Given the description of an element on the screen output the (x, y) to click on. 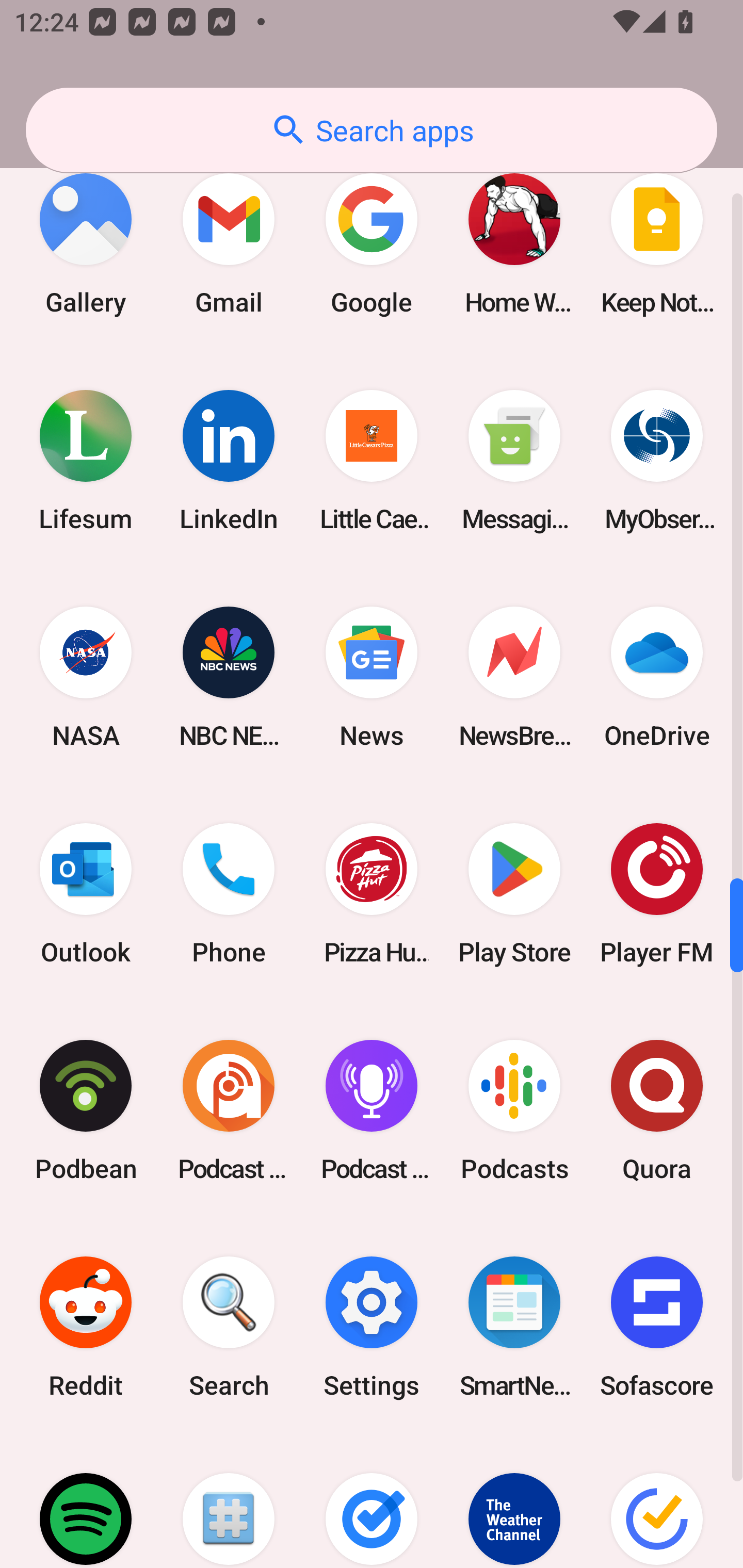
  Search apps (371, 130)
Gallery (85, 244)
Gmail (228, 244)
Google (371, 244)
Home Workout (514, 244)
Keep Notes (656, 244)
Lifesum (85, 460)
LinkedIn (228, 460)
Little Caesars Pizza (371, 460)
Messaging (514, 460)
MyObservatory (656, 460)
NASA (85, 677)
NBC NEWS (228, 677)
News (371, 677)
NewsBreak (514, 677)
OneDrive (656, 677)
Outlook (85, 893)
Phone (228, 893)
Pizza Hut HK & Macau (371, 893)
Play Store (514, 893)
Player FM (656, 893)
Podbean (85, 1109)
Podcast Addict (228, 1109)
Podcast Player (371, 1109)
Podcasts (514, 1109)
Quora (656, 1109)
Reddit (85, 1326)
Search (228, 1326)
Settings (371, 1326)
SmartNews (514, 1326)
Sofascore (656, 1326)
Spotify (85, 1501)
Superuser (228, 1501)
Tasks (371, 1501)
The Weather Channel (514, 1501)
TickTick (656, 1501)
